Given the description of an element on the screen output the (x, y) to click on. 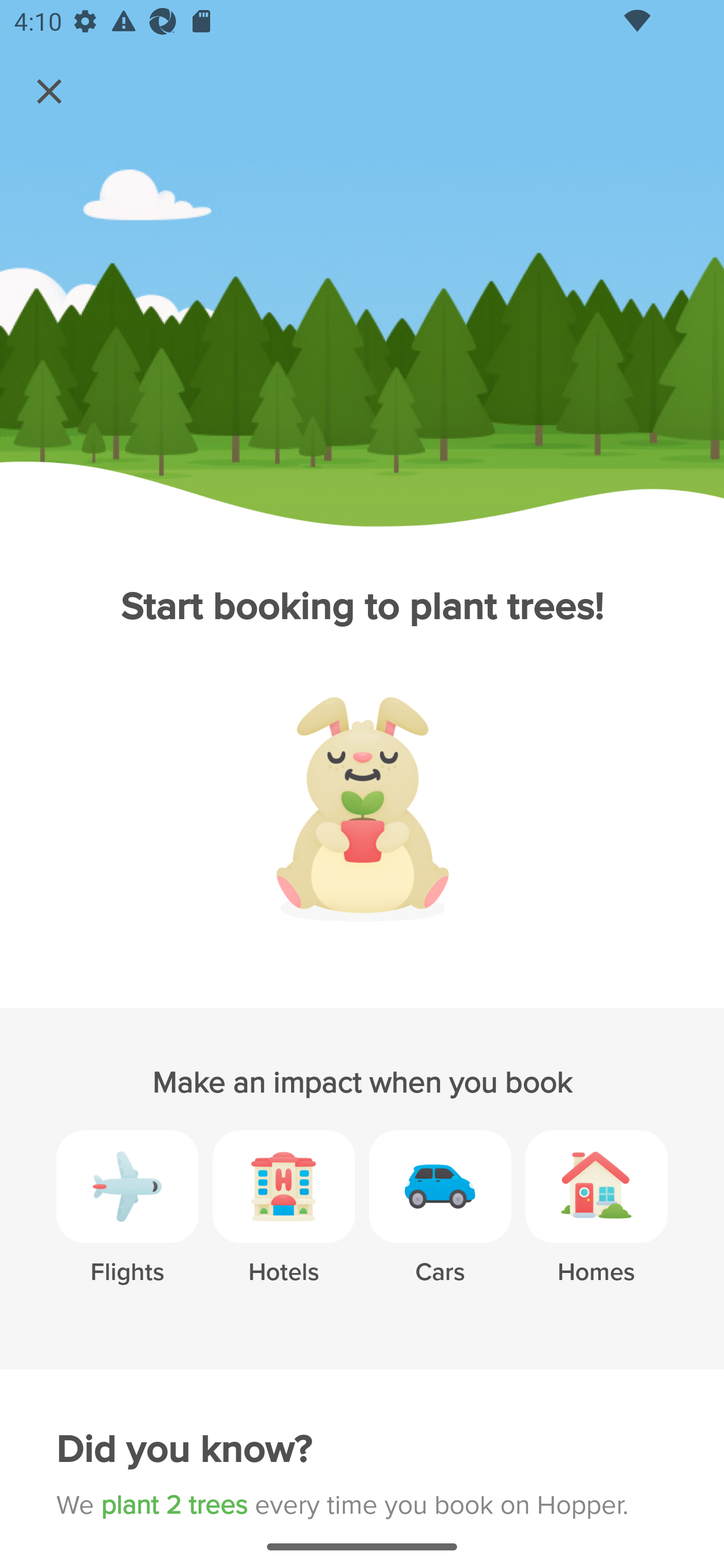
Navigate up (49, 91)
Flights (127, 1221)
Hotels (283, 1221)
Cars (440, 1221)
Homes (596, 1221)
